Given the description of an element on the screen output the (x, y) to click on. 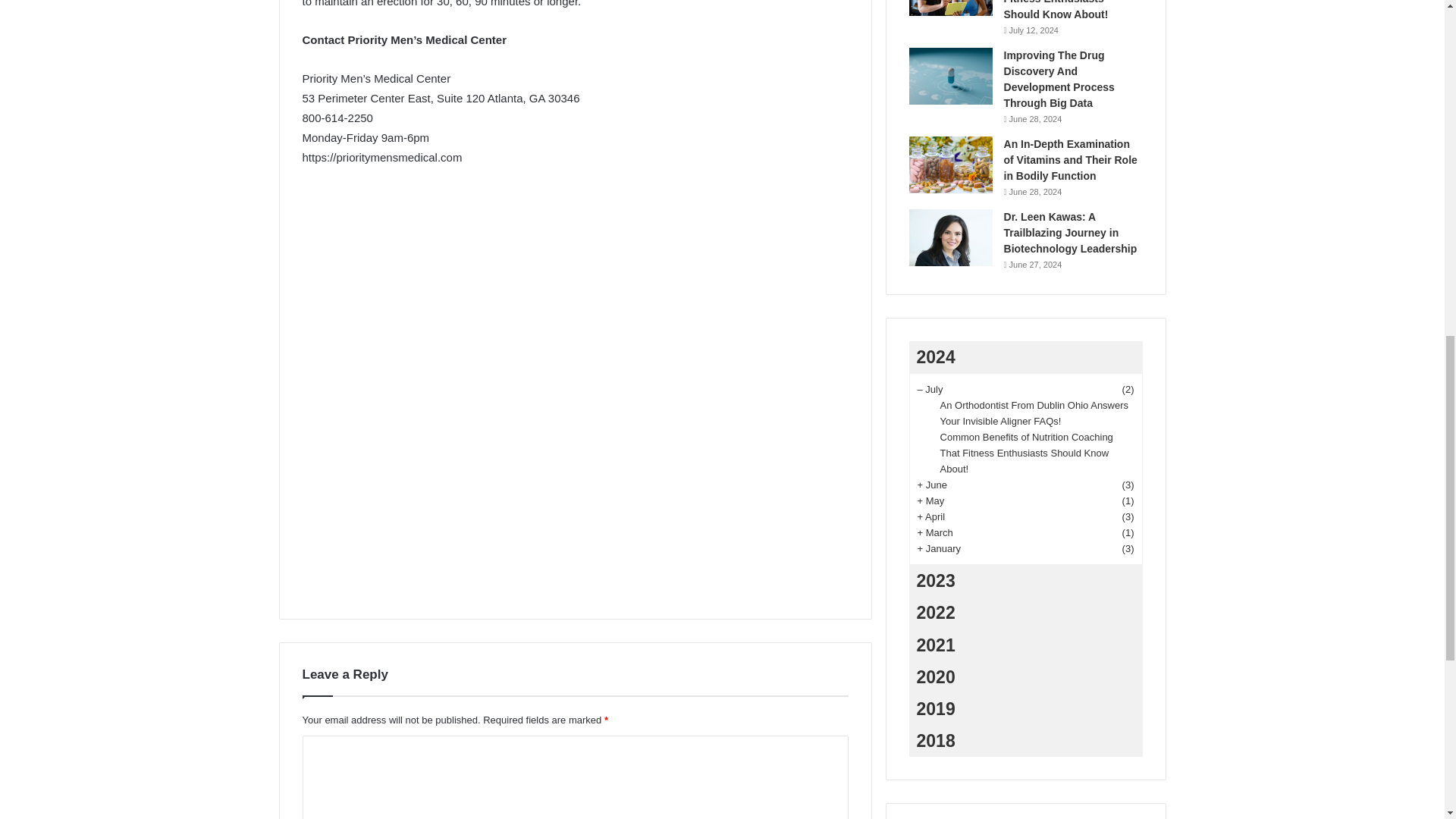
2023 (1025, 581)
2024 (1025, 357)
